Given the description of an element on the screen output the (x, y) to click on. 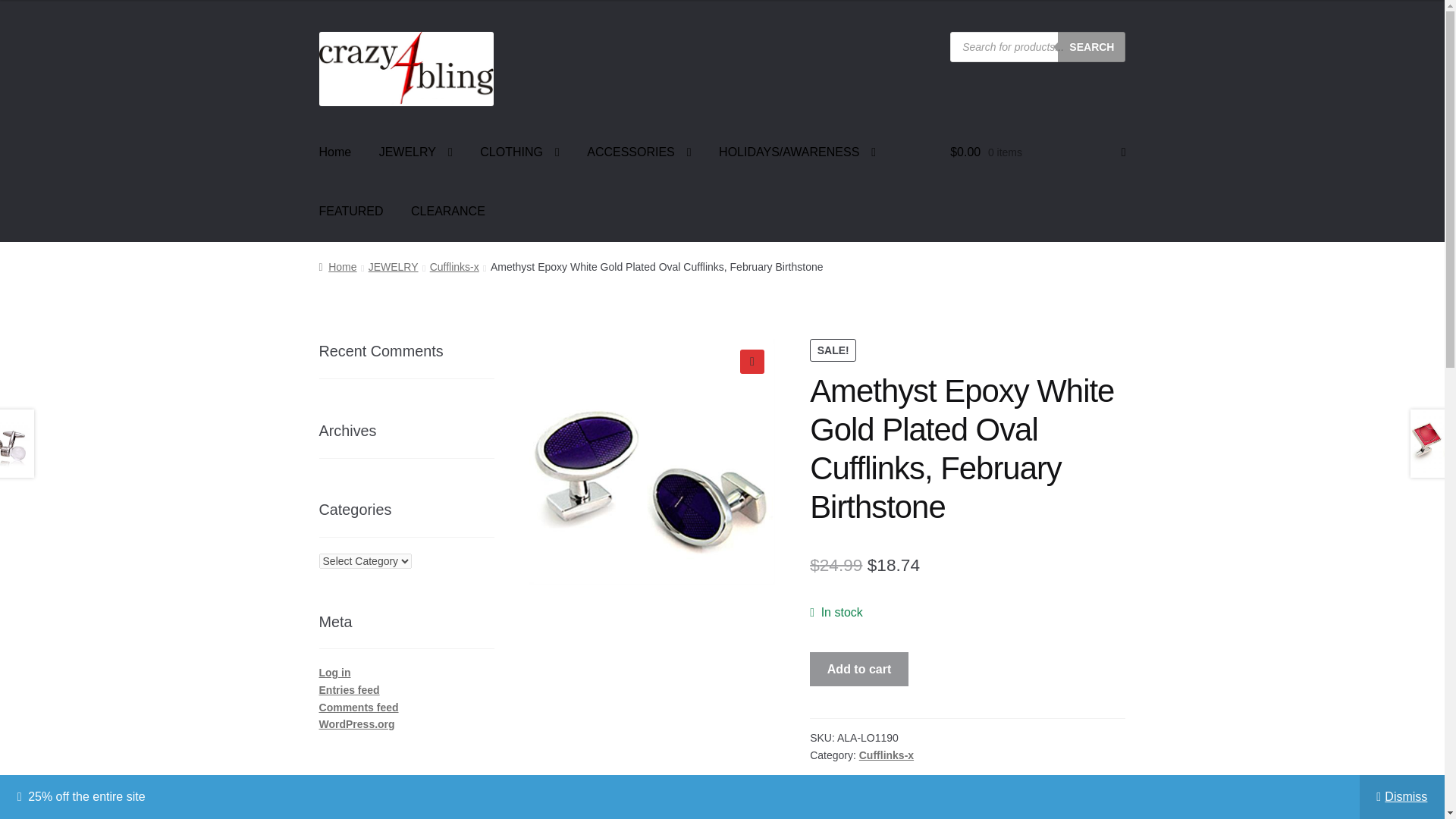
Home (335, 151)
JEWELRY (415, 151)
View your shopping cart (1037, 151)
SEARCH (1091, 46)
